Given the description of an element on the screen output the (x, y) to click on. 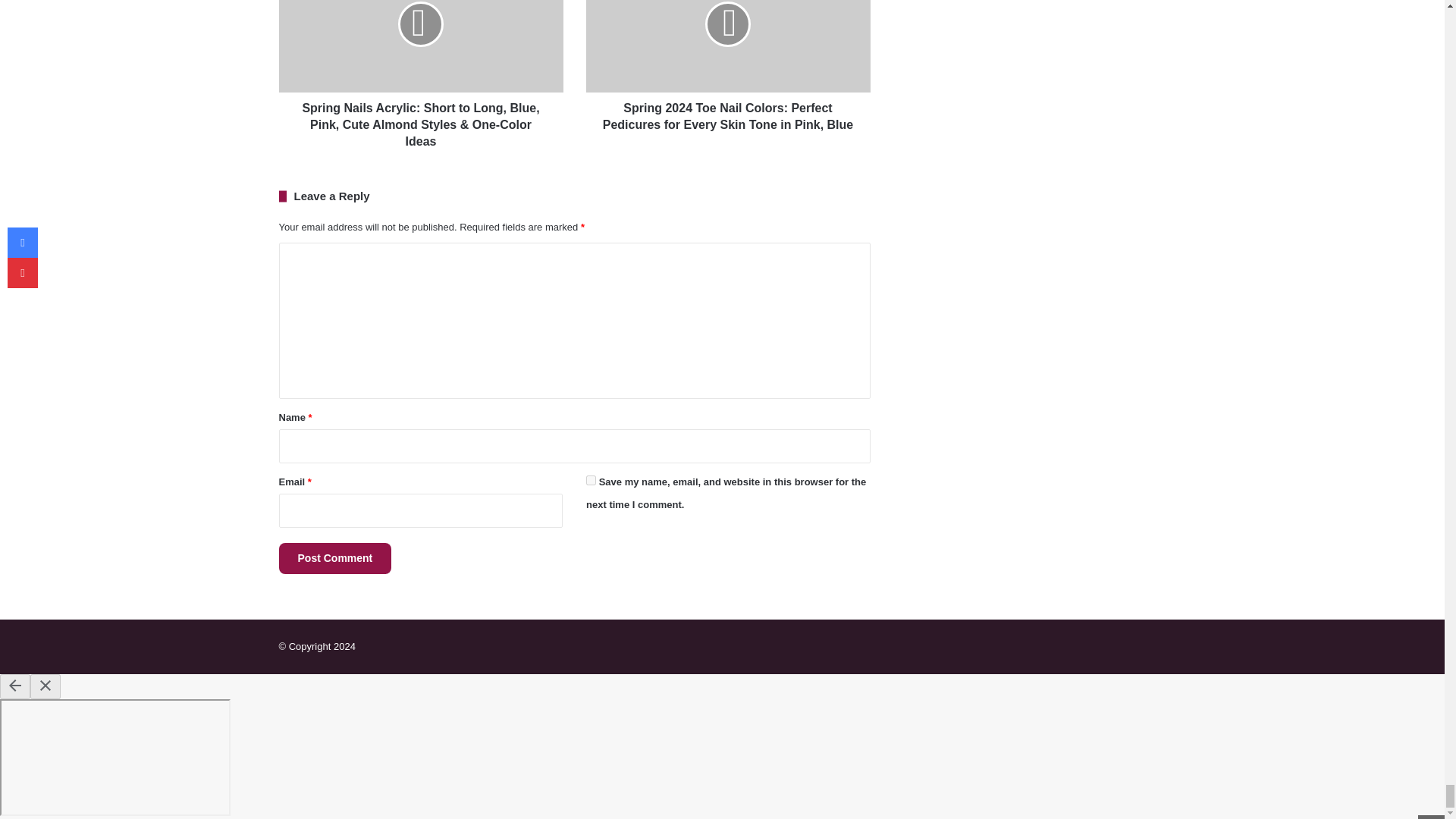
Post Comment (335, 558)
yes (590, 480)
Post Comment (335, 558)
